Given the description of an element on the screen output the (x, y) to click on. 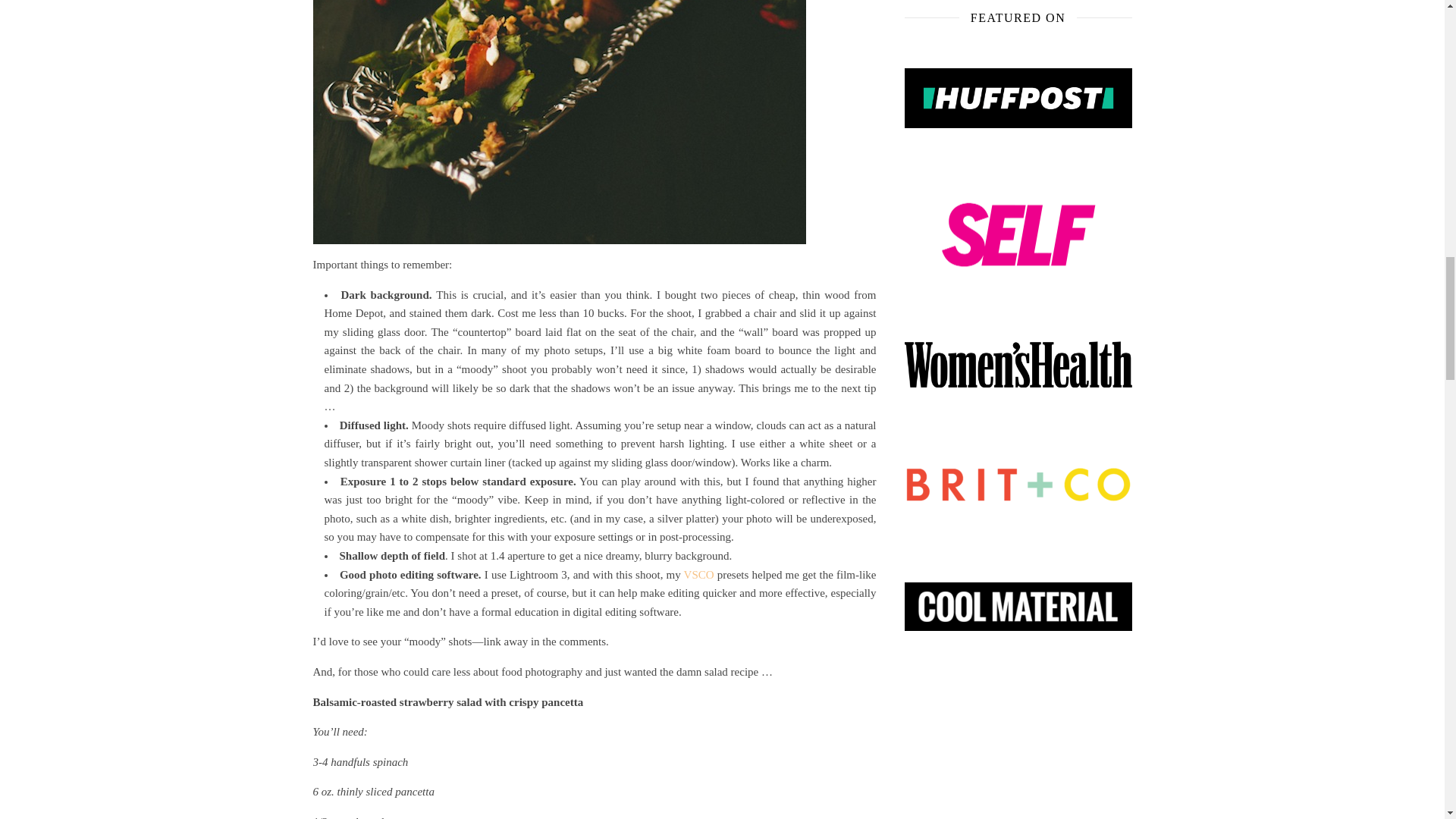
VSCO (699, 574)
